Given the description of an element on the screen output the (x, y) to click on. 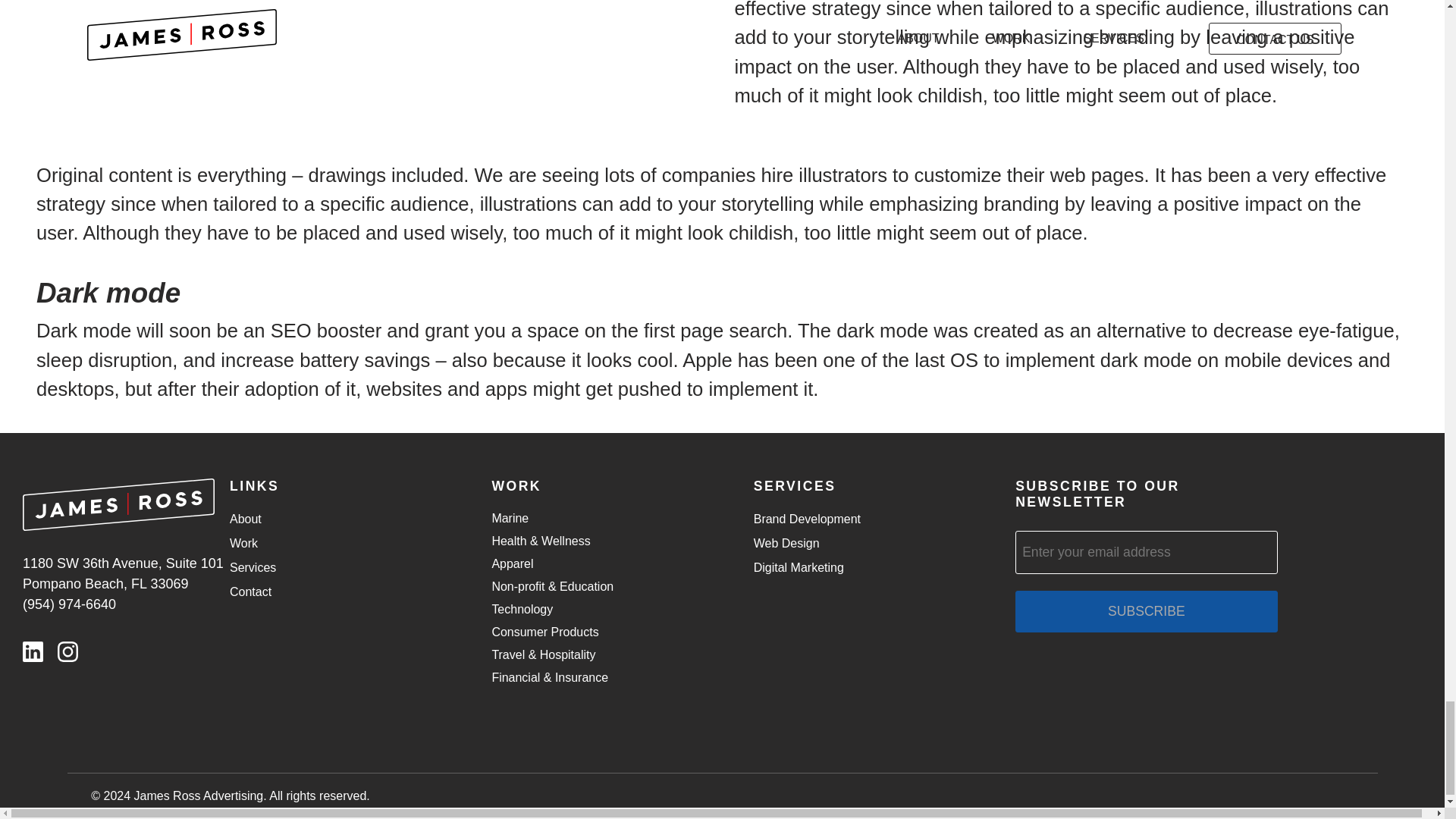
Services (253, 567)
Work (243, 543)
Contact (250, 591)
Marine (510, 517)
About (246, 518)
SUBSCRIBE (1145, 611)
